Given the description of an element on the screen output the (x, y) to click on. 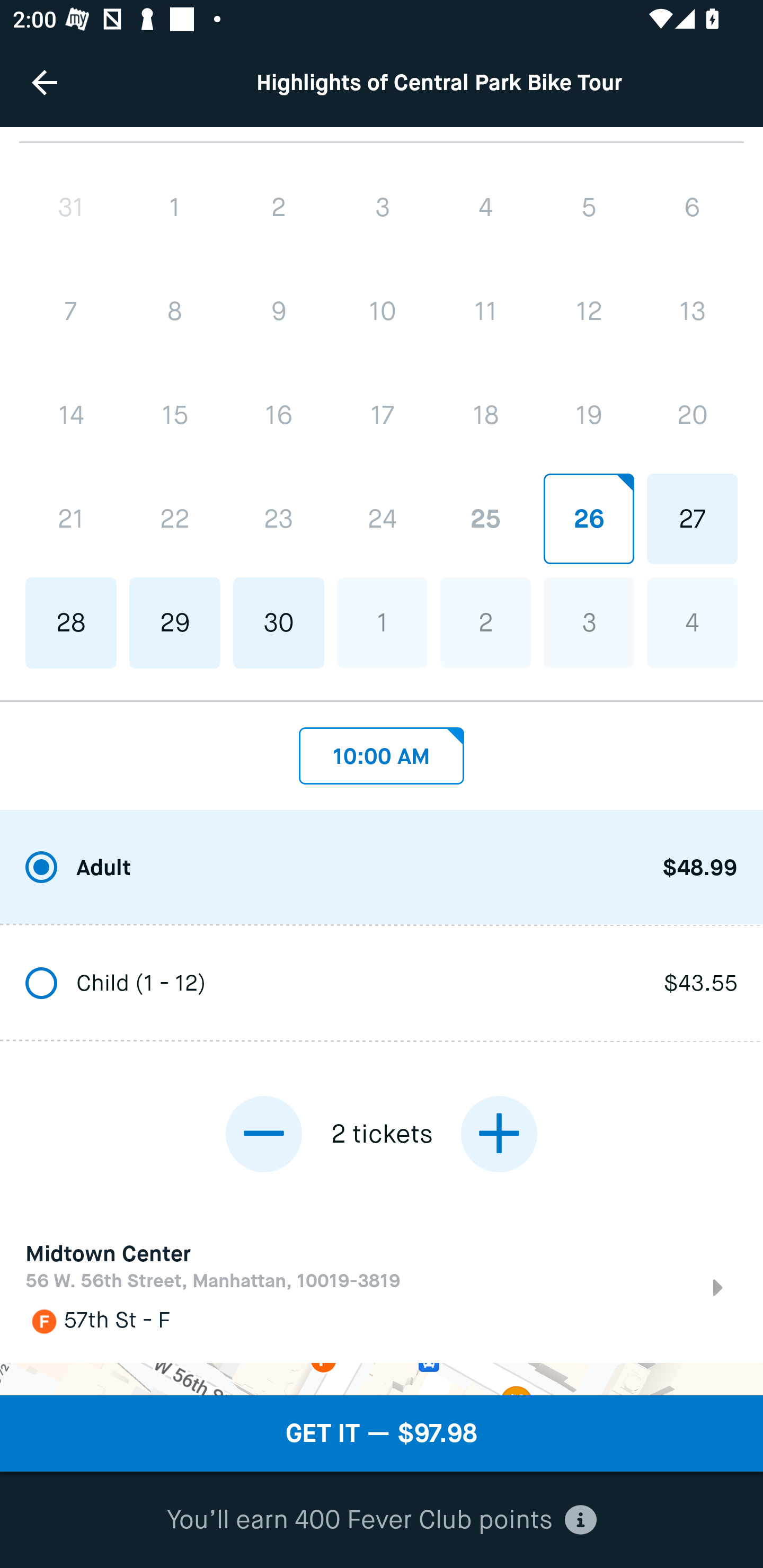
Navigate up (44, 82)
31 (70, 206)
1 (174, 206)
2 (278, 206)
3 (382, 206)
4 (485, 206)
5 (588, 206)
6 (692, 206)
7 (70, 311)
8 (174, 311)
9 (278, 311)
10 (382, 310)
11 (485, 310)
12 (588, 310)
13 (692, 310)
14 (70, 415)
15 (174, 415)
16 (278, 415)
17 (382, 415)
18 (485, 415)
19 (588, 415)
20 (692, 415)
21 (70, 518)
22 (174, 518)
23 (278, 518)
24 (382, 518)
25 (485, 518)
26 (588, 518)
27 (692, 518)
28 (70, 622)
29 (174, 622)
30 (278, 622)
1 (382, 622)
2 (485, 622)
3 (588, 622)
4 (692, 622)
10:00 AM (381, 751)
Adult $48.99 (381, 868)
Child (1 - 12) $43.55 (381, 984)
decrease (263, 1134)
increase (498, 1134)
GET IT — $97.98 (381, 1433)
You’ll earn 400 Fever Club points (381, 1519)
